Given the description of an element on the screen output the (x, y) to click on. 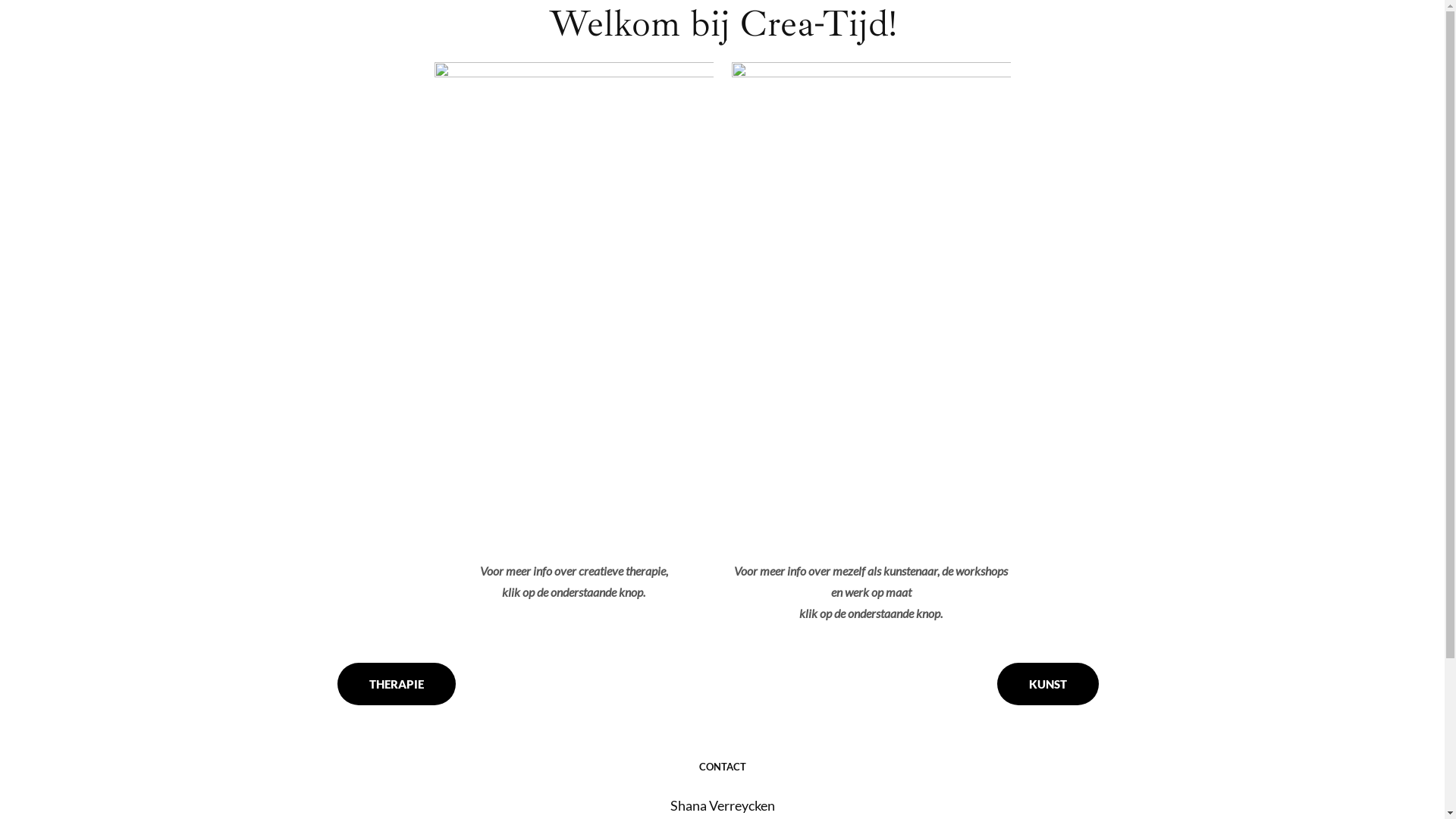
THERAPIE Element type: text (396, 683)
KUNST Element type: text (1047, 683)
